Given the description of an element on the screen output the (x, y) to click on. 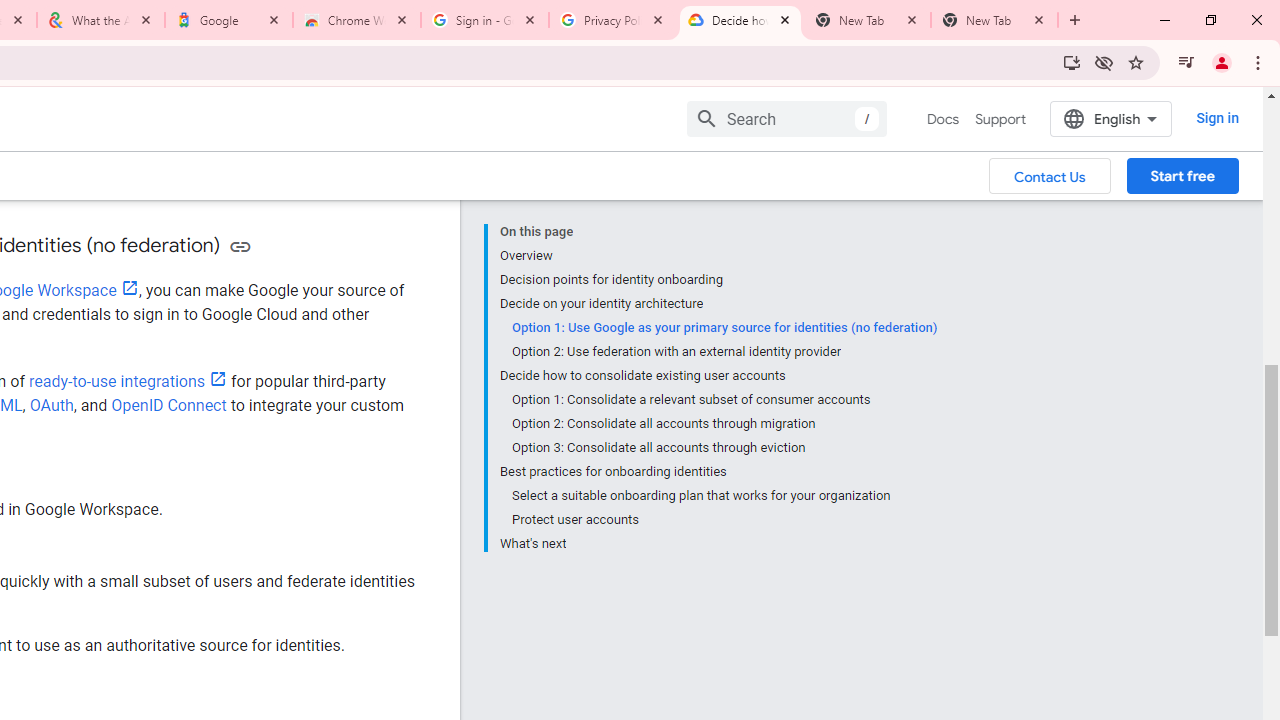
Decide on your identity architecture (717, 304)
OpenID Connect (168, 405)
OAuth (51, 405)
Decision points for identity onboarding (717, 279)
Contact Us (1050, 175)
Decide how to consolidate existing user accounts (717, 376)
What's next (717, 542)
